Given the description of an element on the screen output the (x, y) to click on. 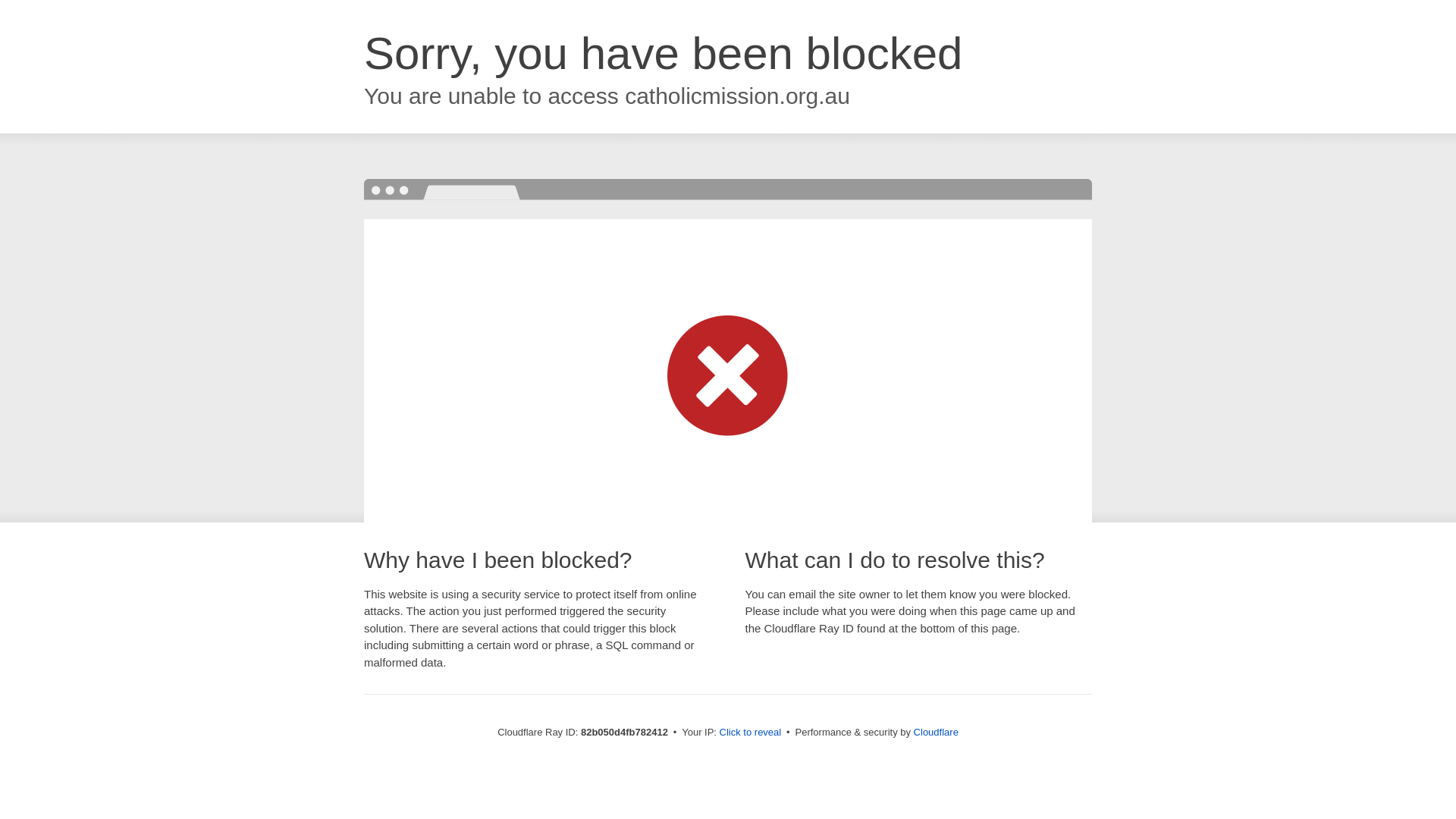
Cloudflare Element type: text (935, 731)
Click to reveal Element type: text (750, 732)
